Given the description of an element on the screen output the (x, y) to click on. 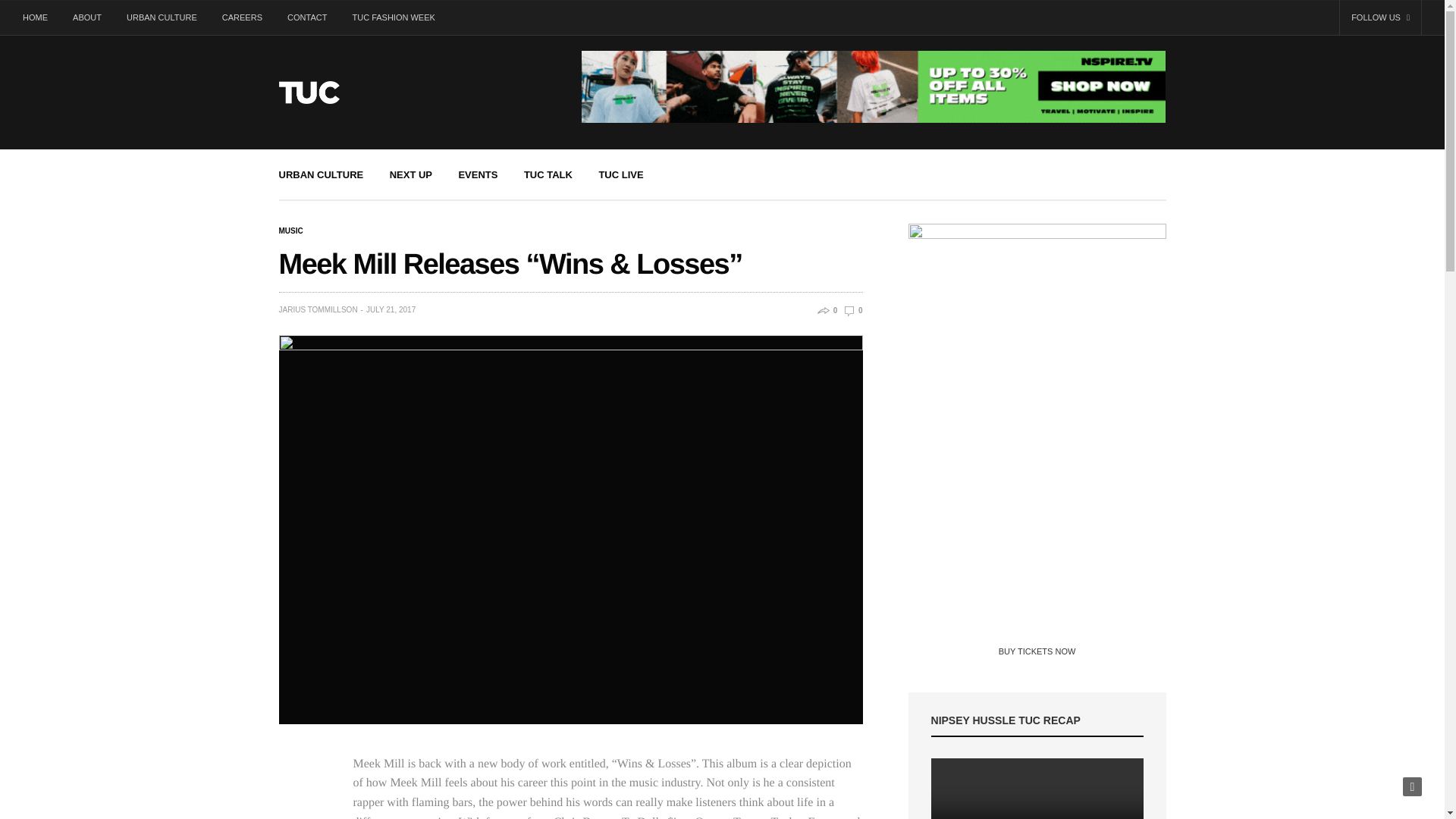
CAREERS (242, 17)
HOME (41, 17)
CONTACT (306, 17)
FOLLOW US (1380, 17)
ABOUT (87, 17)
TUC FASHION WEEK (392, 17)
URBAN CULTURE (321, 174)
URBAN CULTURE (161, 17)
